Given the description of an element on the screen output the (x, y) to click on. 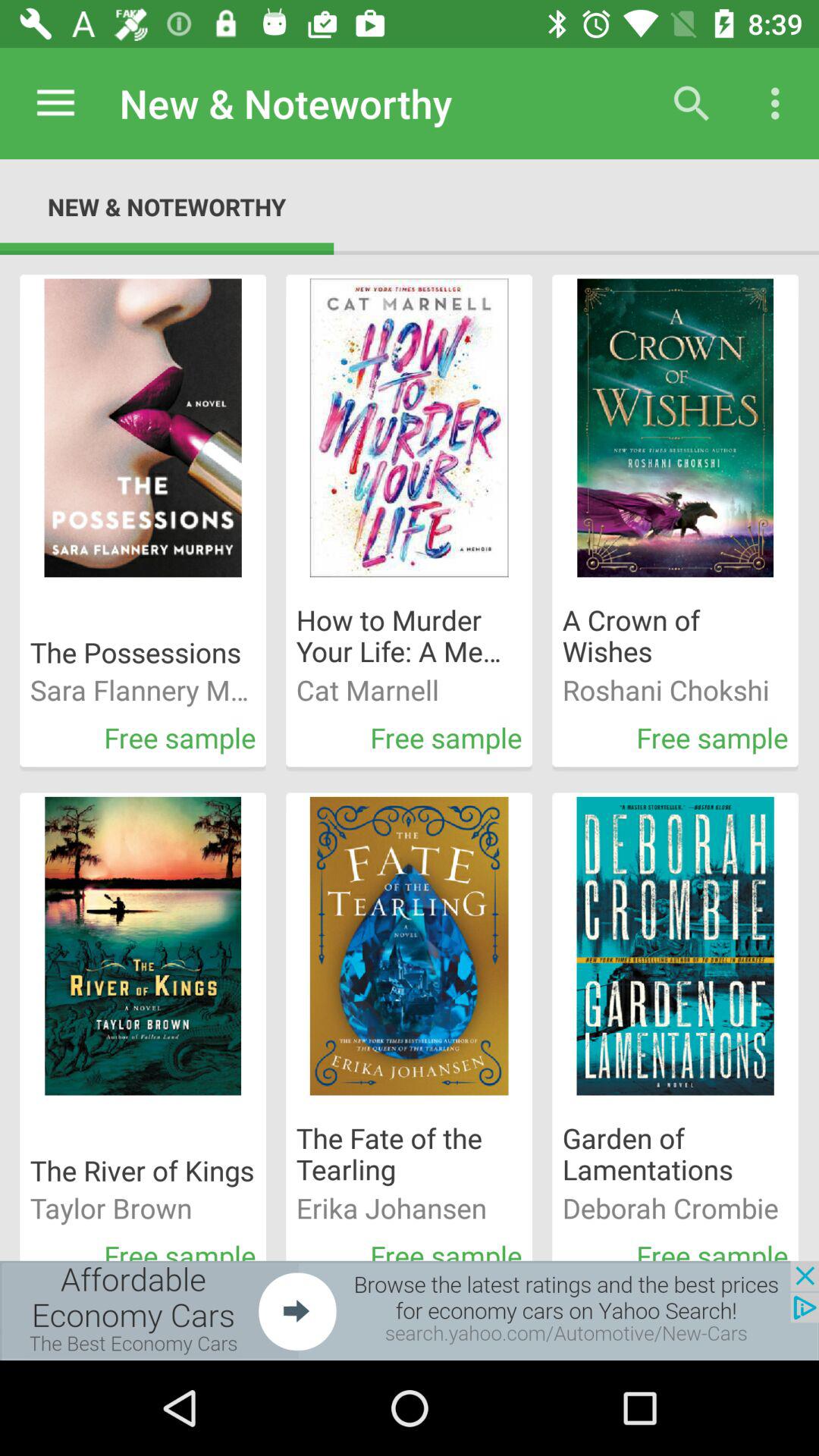
go to advertisements website (409, 1310)
